Given the description of an element on the screen output the (x, y) to click on. 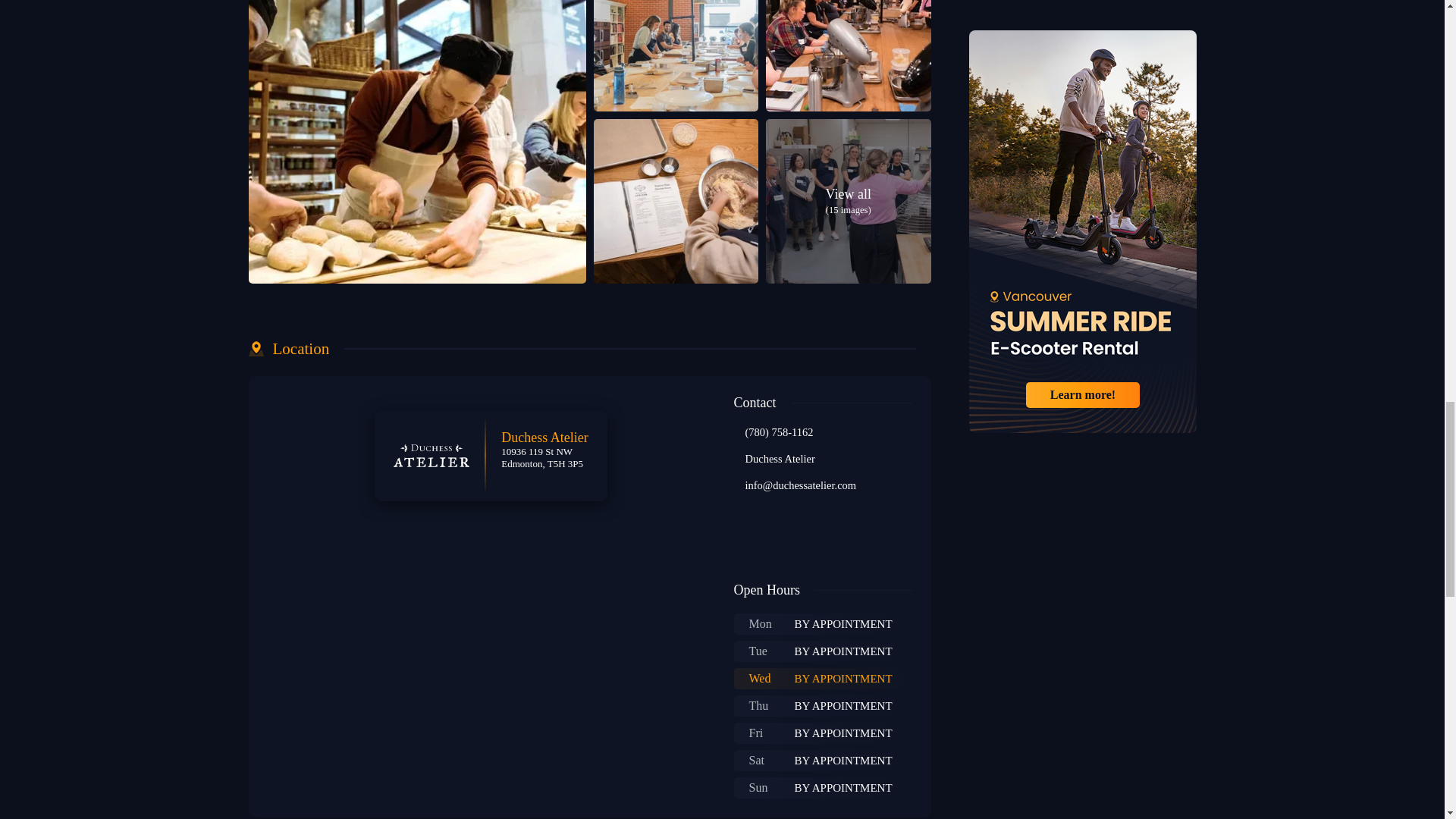
Duchess Atelier (778, 459)
